Given the description of an element on the screen output the (x, y) to click on. 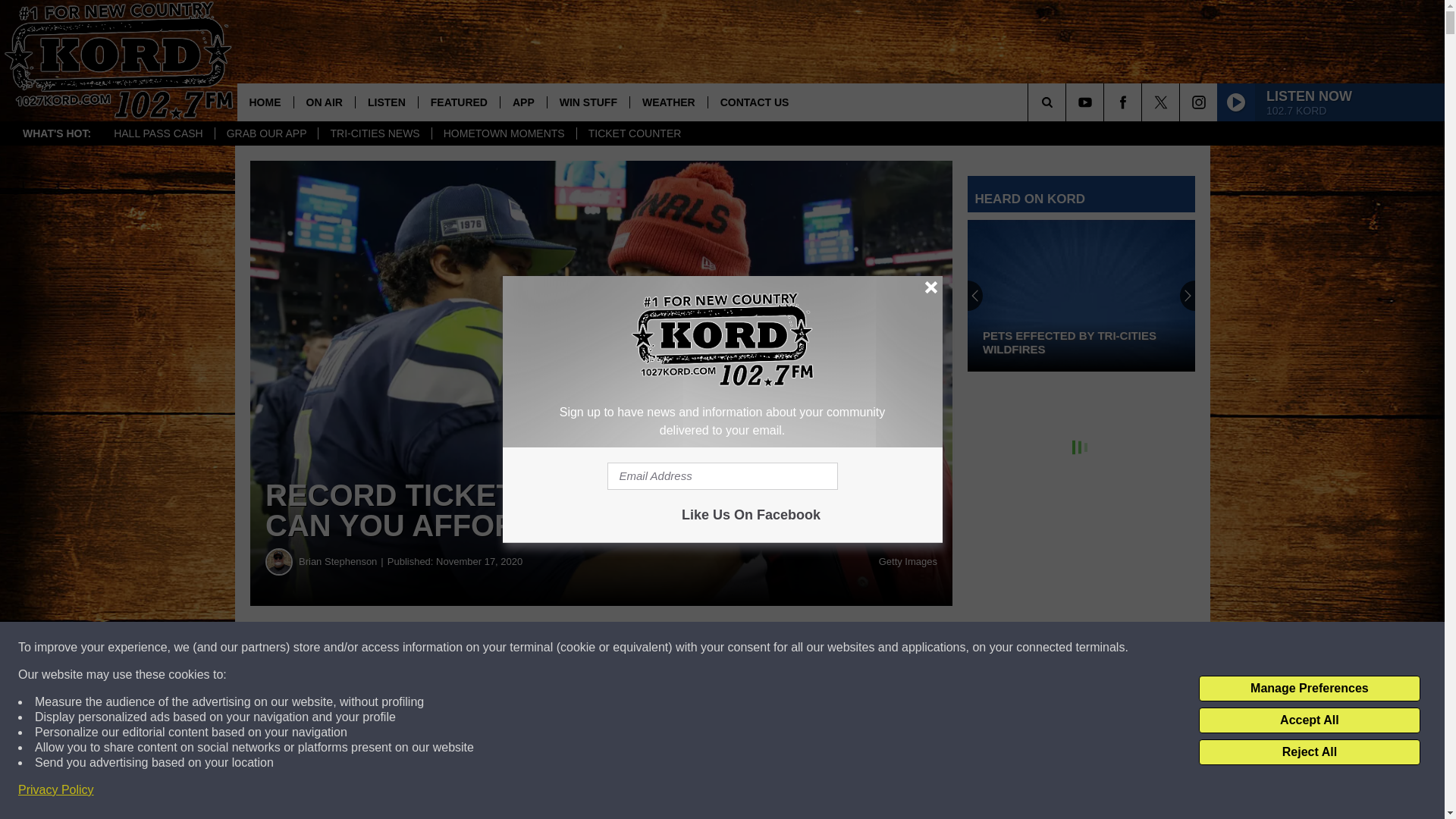
GRAB OUR APP (266, 133)
TICKET COUNTER (634, 133)
HOME (263, 102)
WHAT'S HOT: (56, 133)
FEATURED (458, 102)
SEARCH (1068, 102)
ON AIR (322, 102)
Share on Facebook (460, 647)
Accept All (1309, 720)
SEARCH (1068, 102)
Privacy Policy (55, 789)
Email Address (722, 475)
LISTEN (386, 102)
HOMETOWN MOMENTS (503, 133)
Manage Preferences (1309, 688)
